Given the description of an element on the screen output the (x, y) to click on. 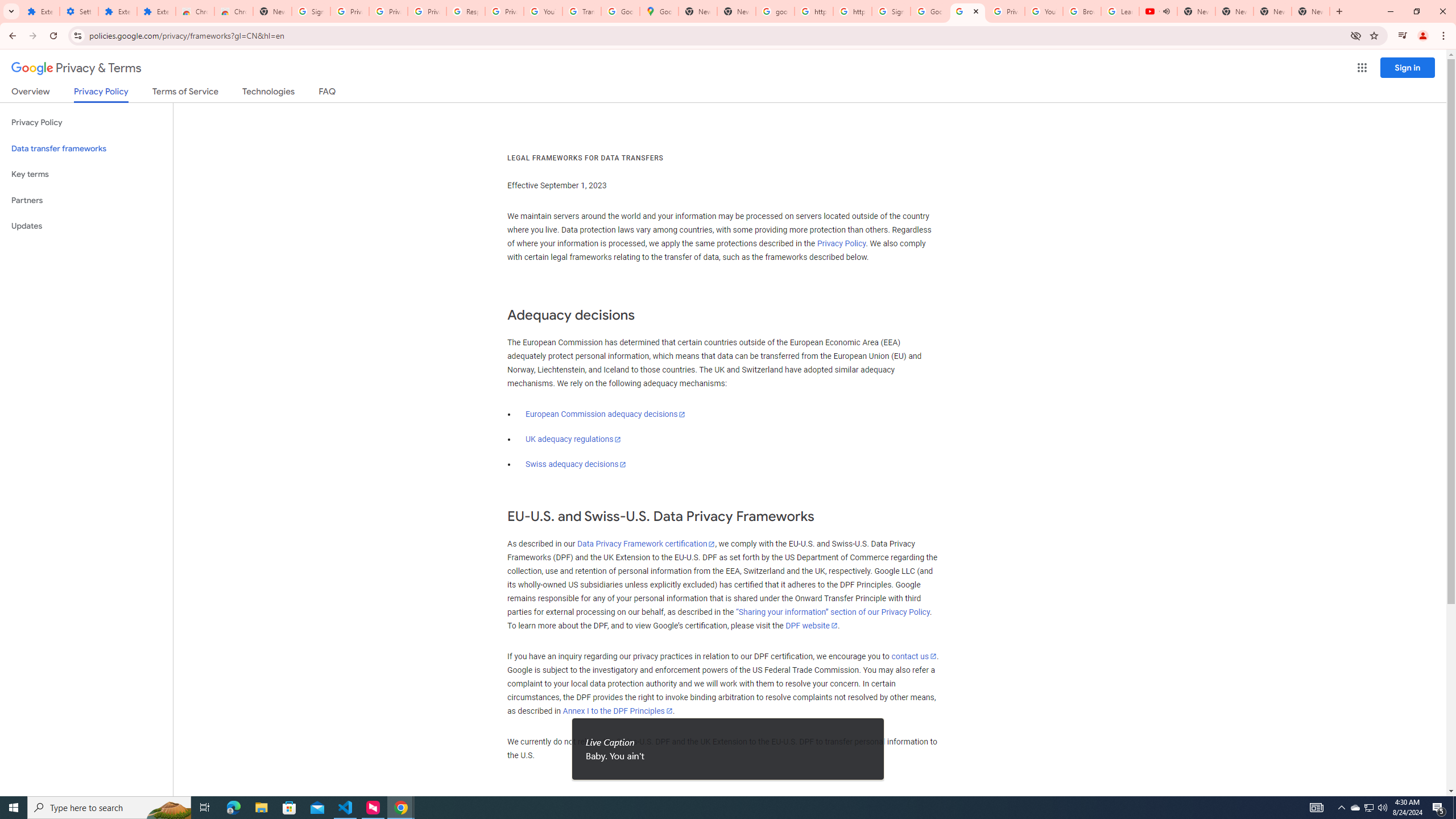
Annex I to the DPF Principles (617, 710)
Sign in - Google Accounts (890, 11)
Sign in - Google Accounts (310, 11)
Extensions (156, 11)
Chrome Web Store (194, 11)
